Given the description of an element on the screen output the (x, y) to click on. 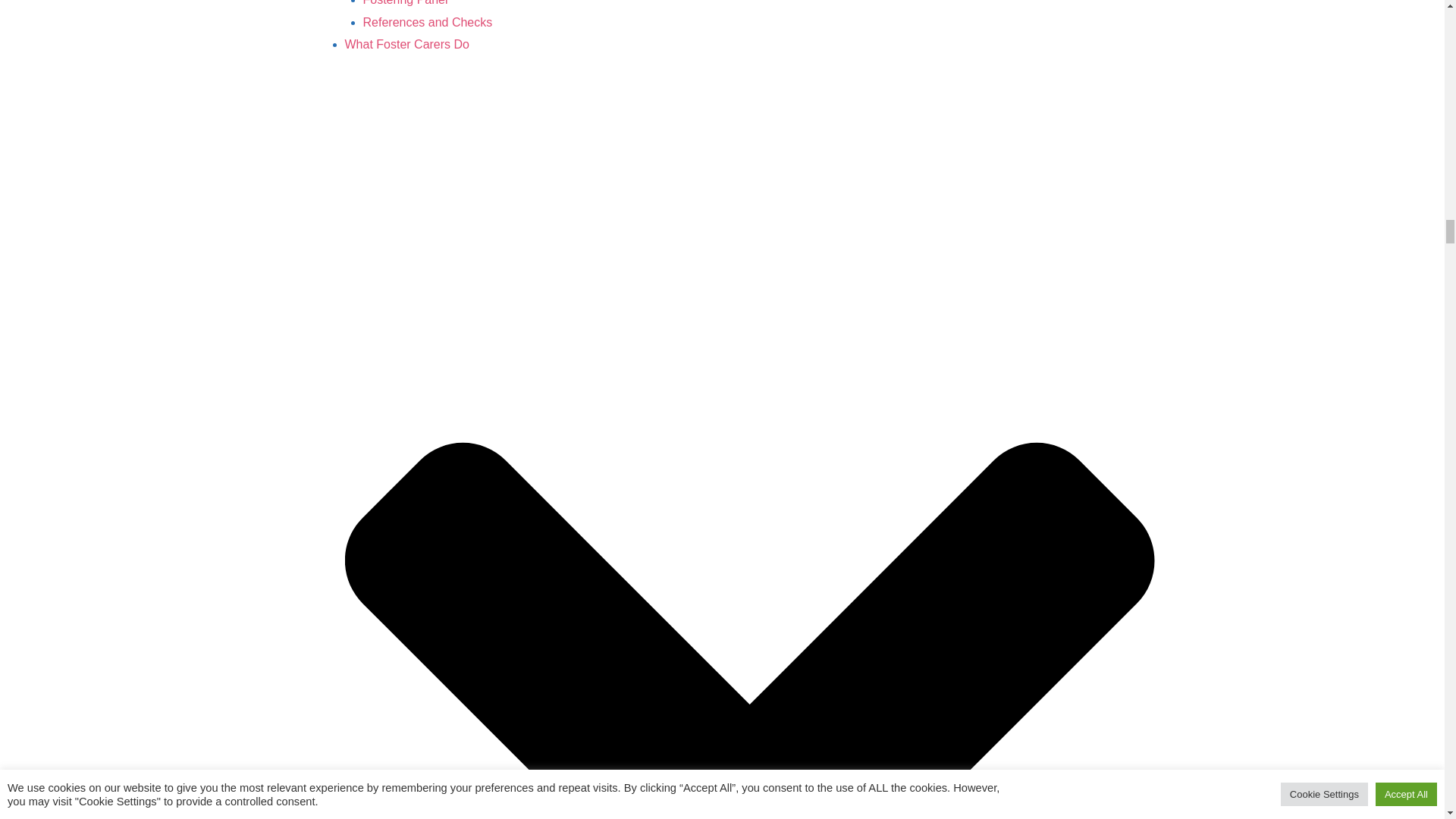
Fostering Panel (404, 2)
References and Checks (427, 21)
